Given the description of an element on the screen output the (x, y) to click on. 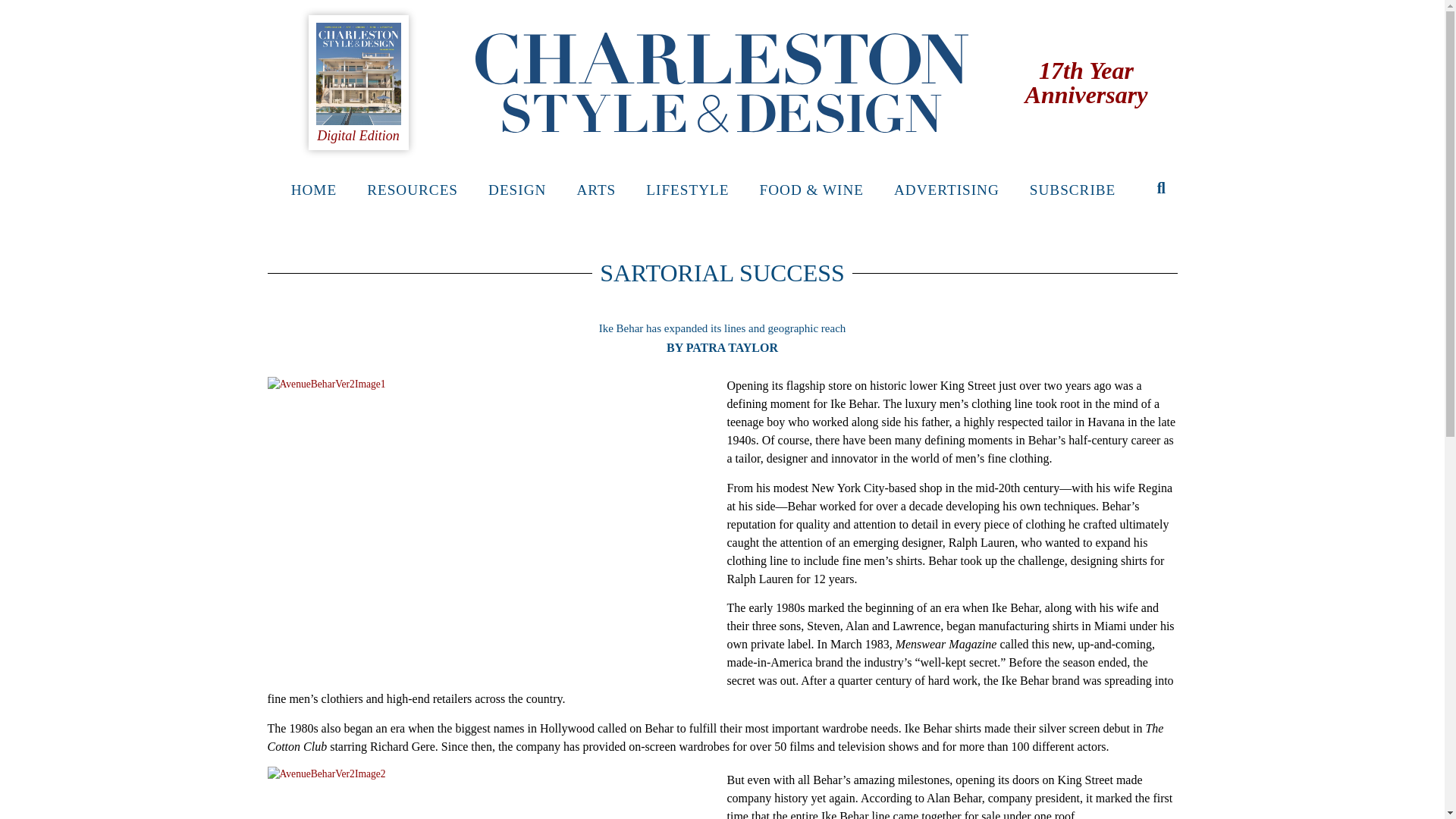
DESIGN (516, 190)
ARTS (595, 190)
RESOURCES (412, 190)
Digital Edition (357, 135)
HOME (314, 190)
SUBSCRIBE (1072, 190)
LIFESTYLE (687, 190)
ADVERTISING (946, 190)
